Given the description of an element on the screen output the (x, y) to click on. 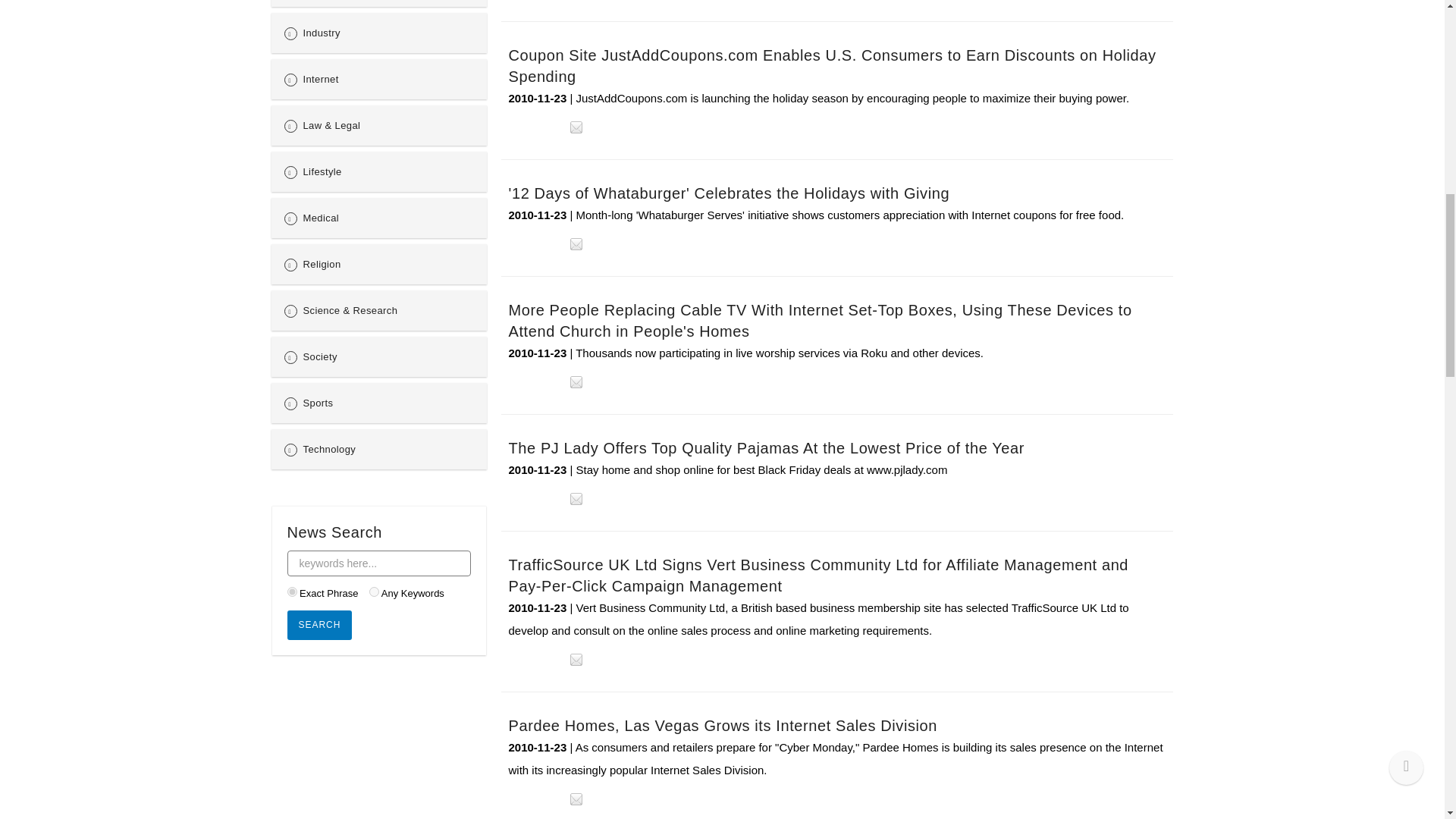
E (291, 592)
N (373, 592)
SEARCH (319, 624)
